Given the description of an element on the screen output the (x, y) to click on. 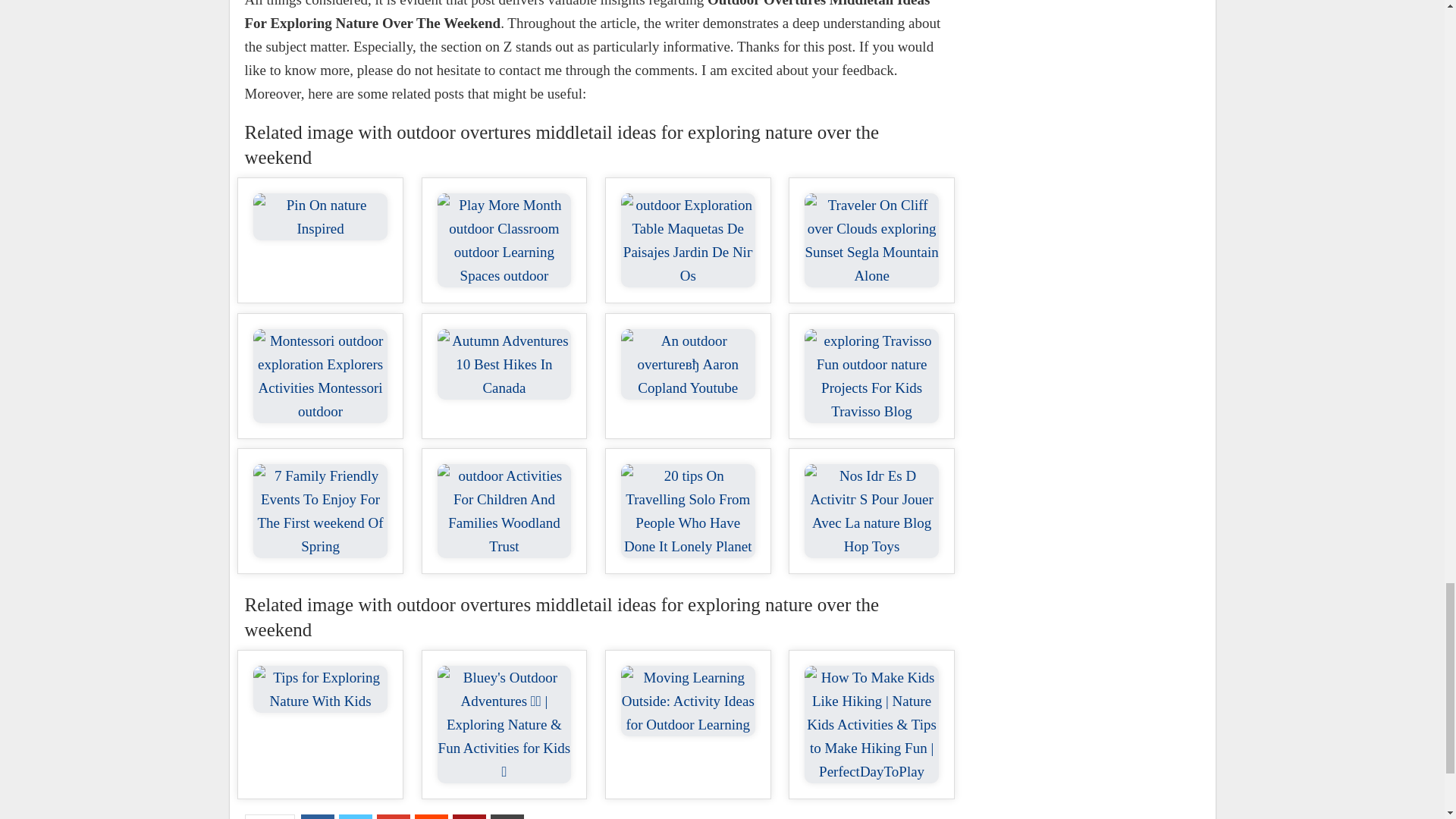
Pin On nature Inspired (320, 216)
Autumn Adventures 10 Best Hikes In Canada (505, 364)
